Given the description of an element on the screen output the (x, y) to click on. 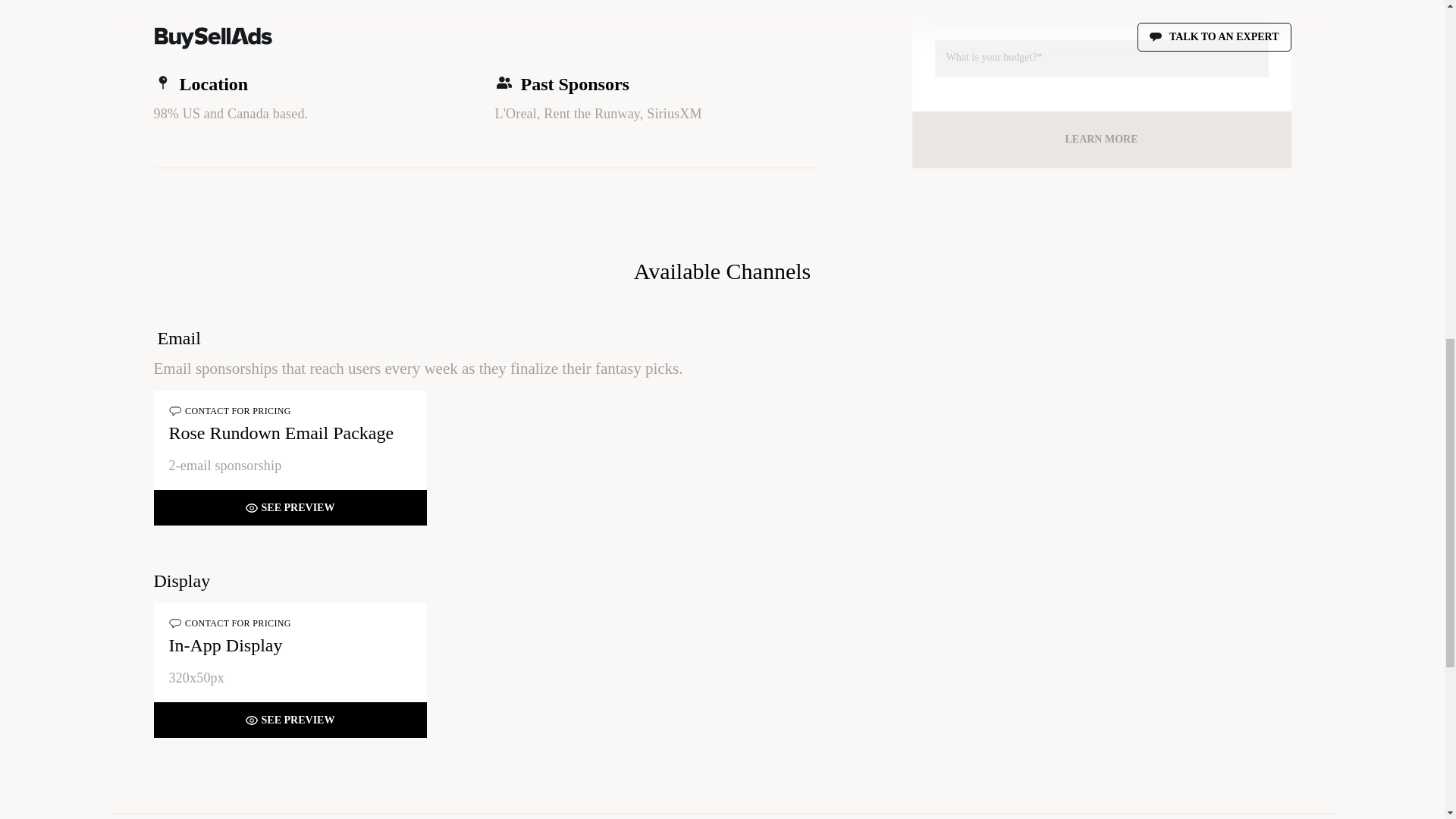
SEE PREVIEW (289, 719)
Learn more (1100, 139)
SEE PREVIEW (289, 507)
Learn more (1100, 139)
